Given the description of an element on the screen output the (x, y) to click on. 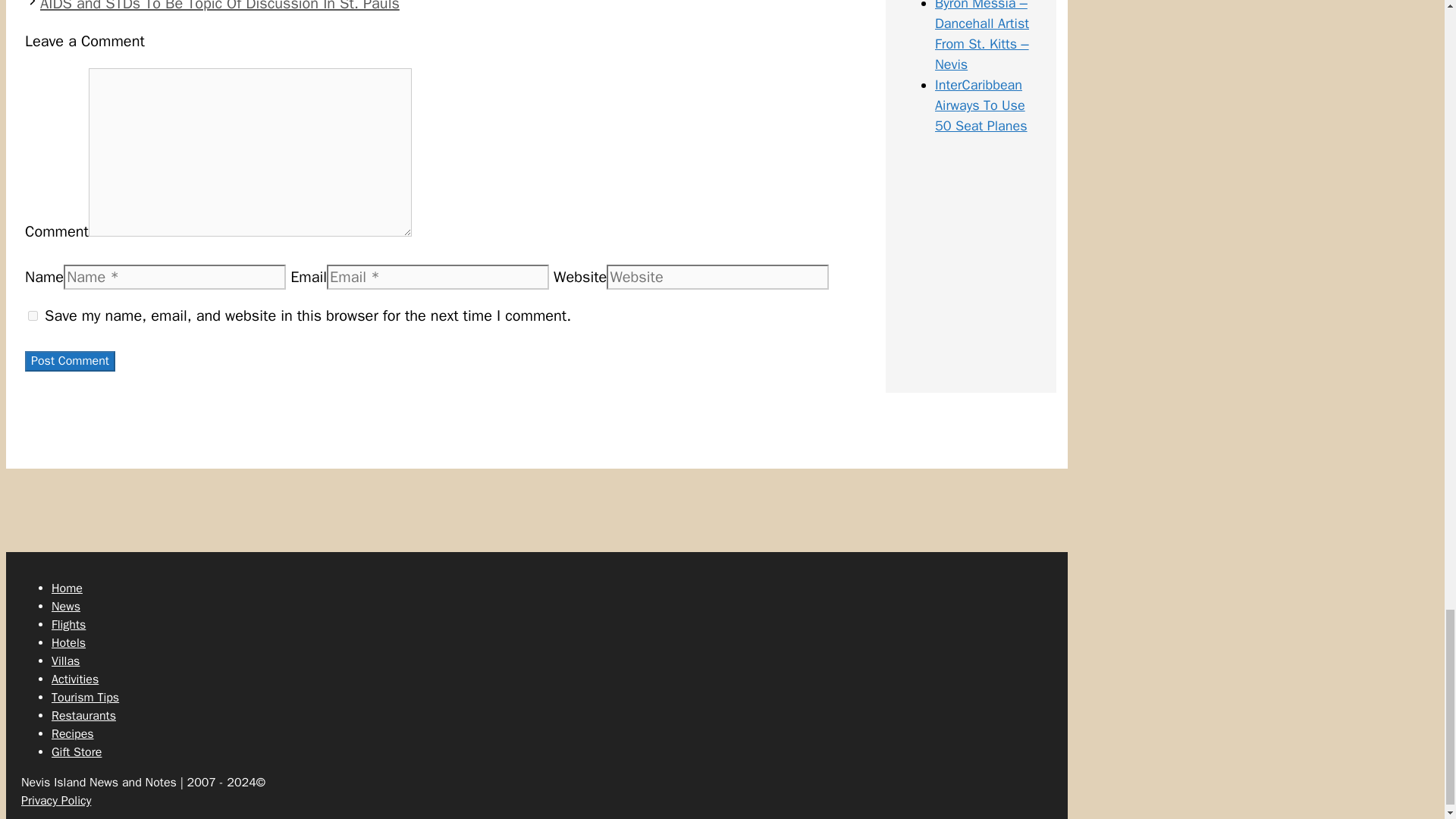
Post Comment (69, 361)
Post Comment (69, 361)
yes (32, 316)
AIDS and STDs To Be Topic Of Discussion In St. Pauls (219, 6)
